Given the description of an element on the screen output the (x, y) to click on. 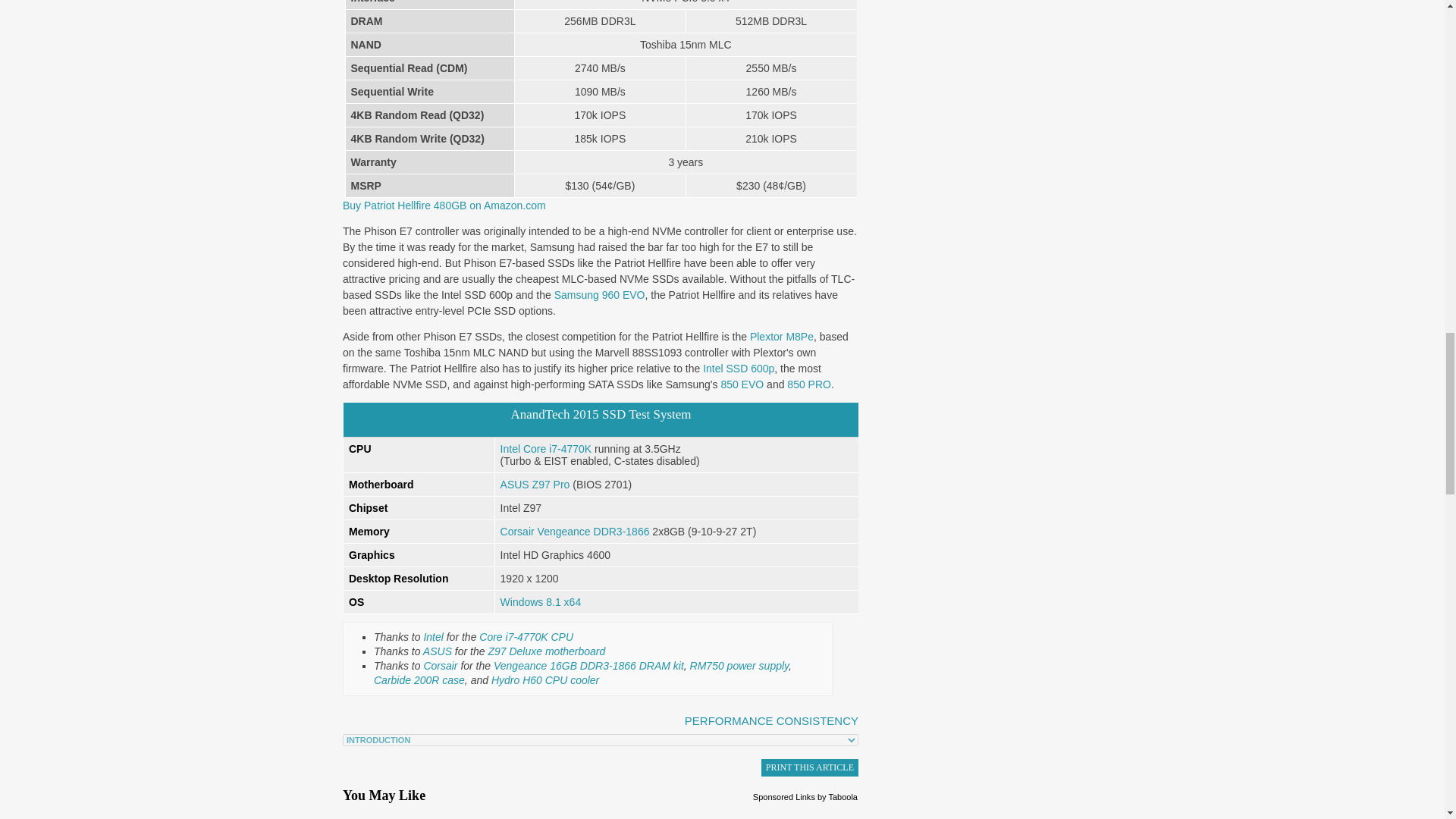
If you own a mouse, play it for 1 minute. (424, 814)
What is your writing missing? (776, 814)
